Given the description of an element on the screen output the (x, y) to click on. 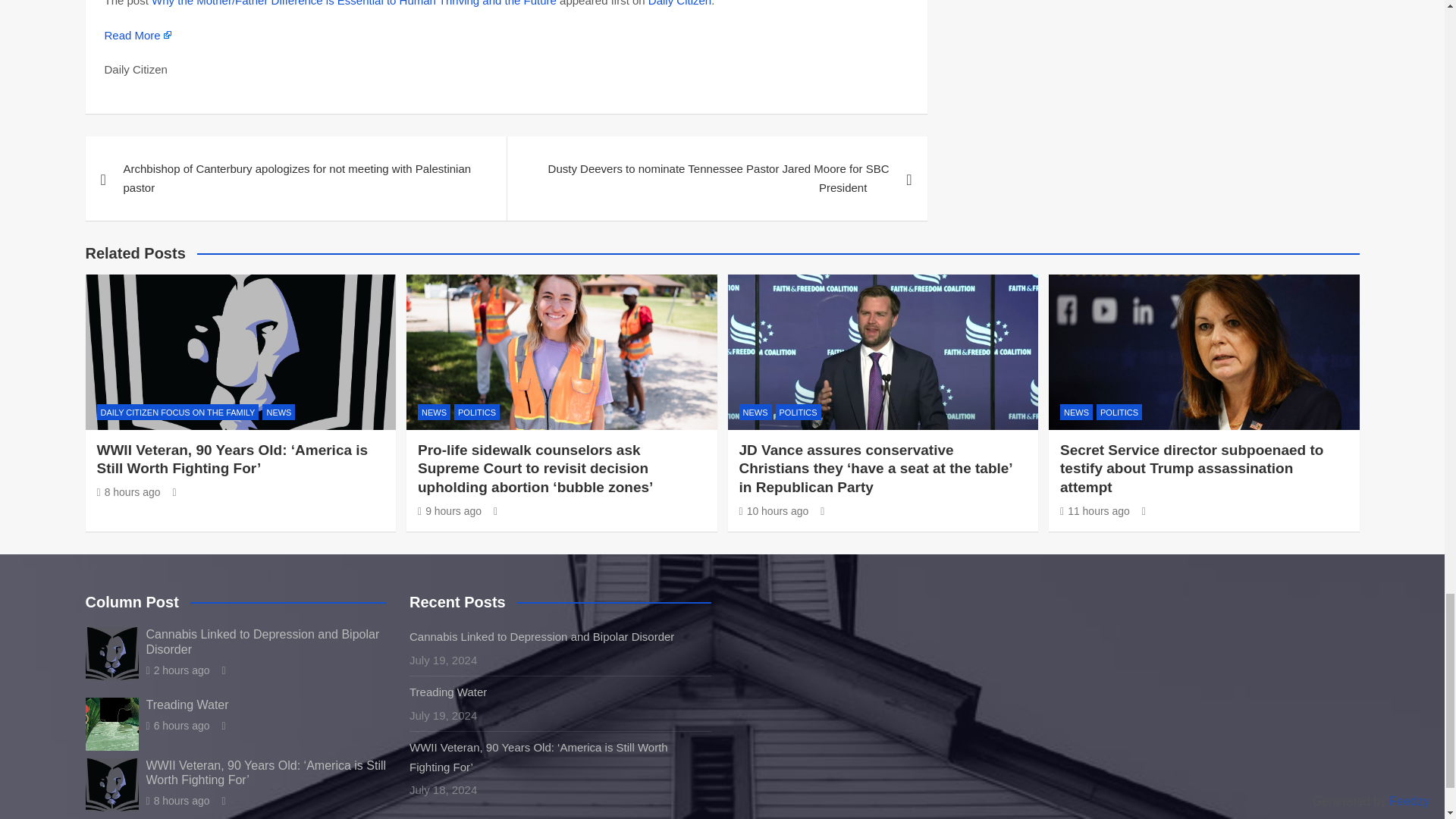
Treading Water (177, 725)
Cannabis Linked to Depression and Bipolar Disorder (177, 670)
